Given the description of an element on the screen output the (x, y) to click on. 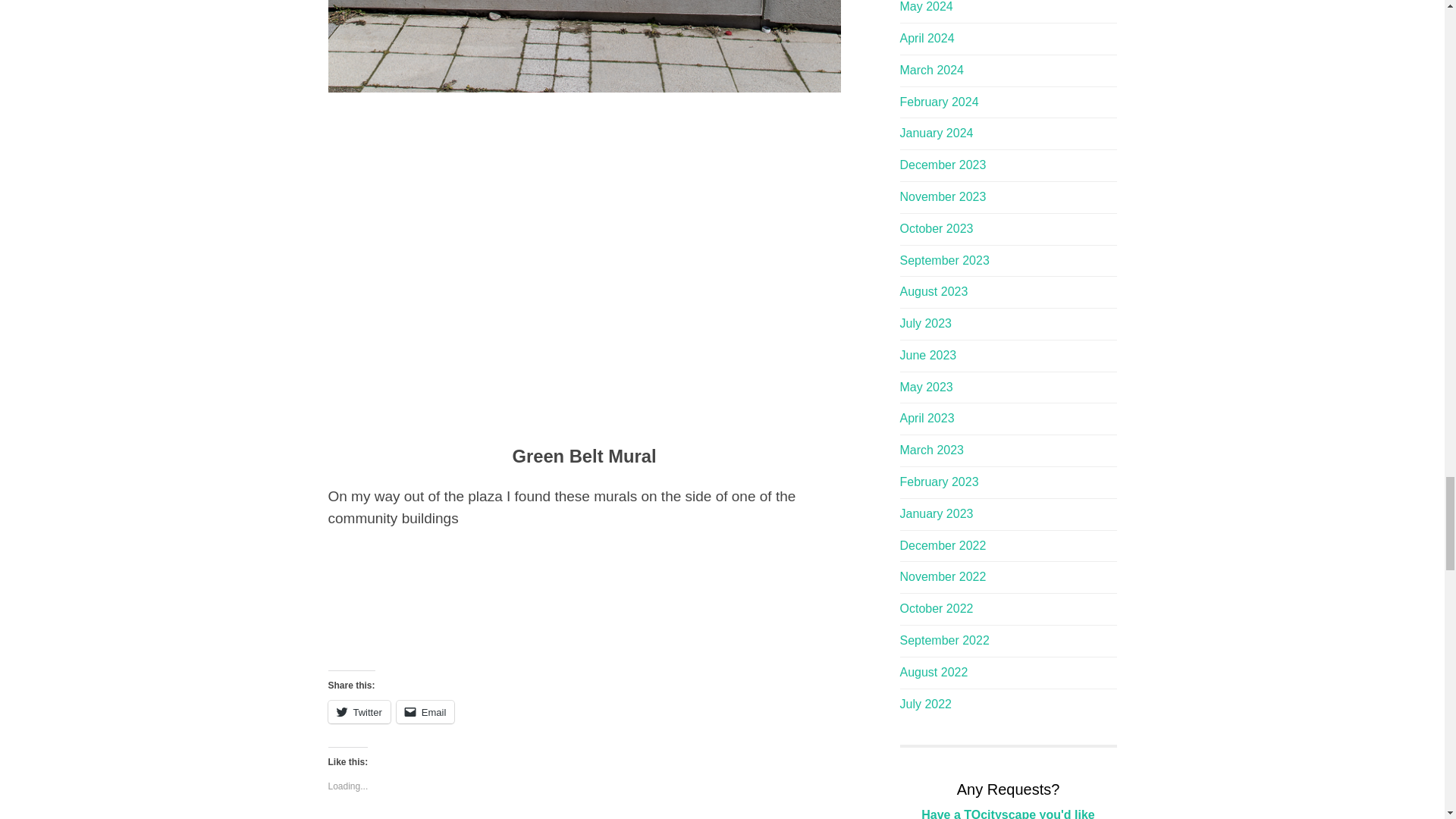
Click to share on Twitter (358, 712)
Twitter (358, 712)
Click to email a link to a friend (425, 712)
Email (425, 712)
